Given the description of an element on the screen output the (x, y) to click on. 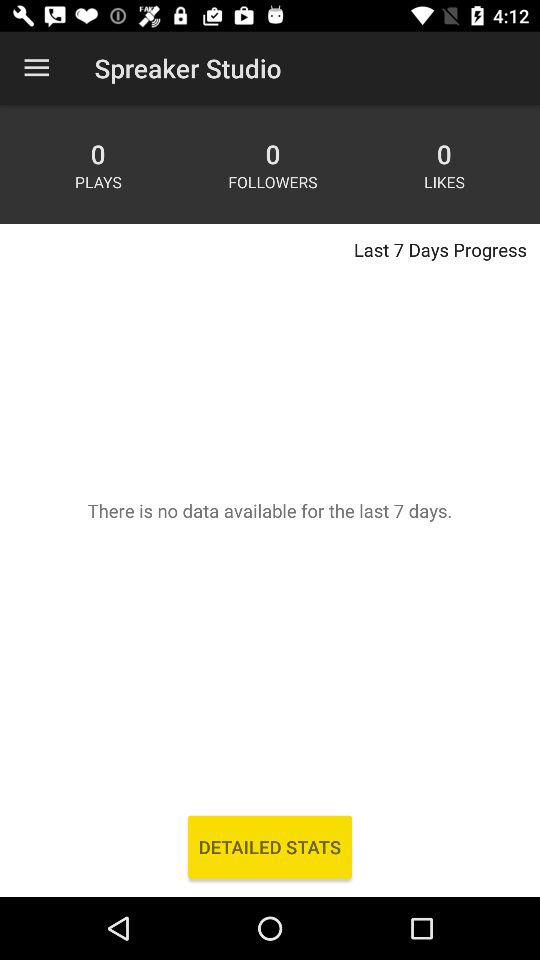
turn on app to the left of the spreaker studio app (36, 68)
